Given the description of an element on the screen output the (x, y) to click on. 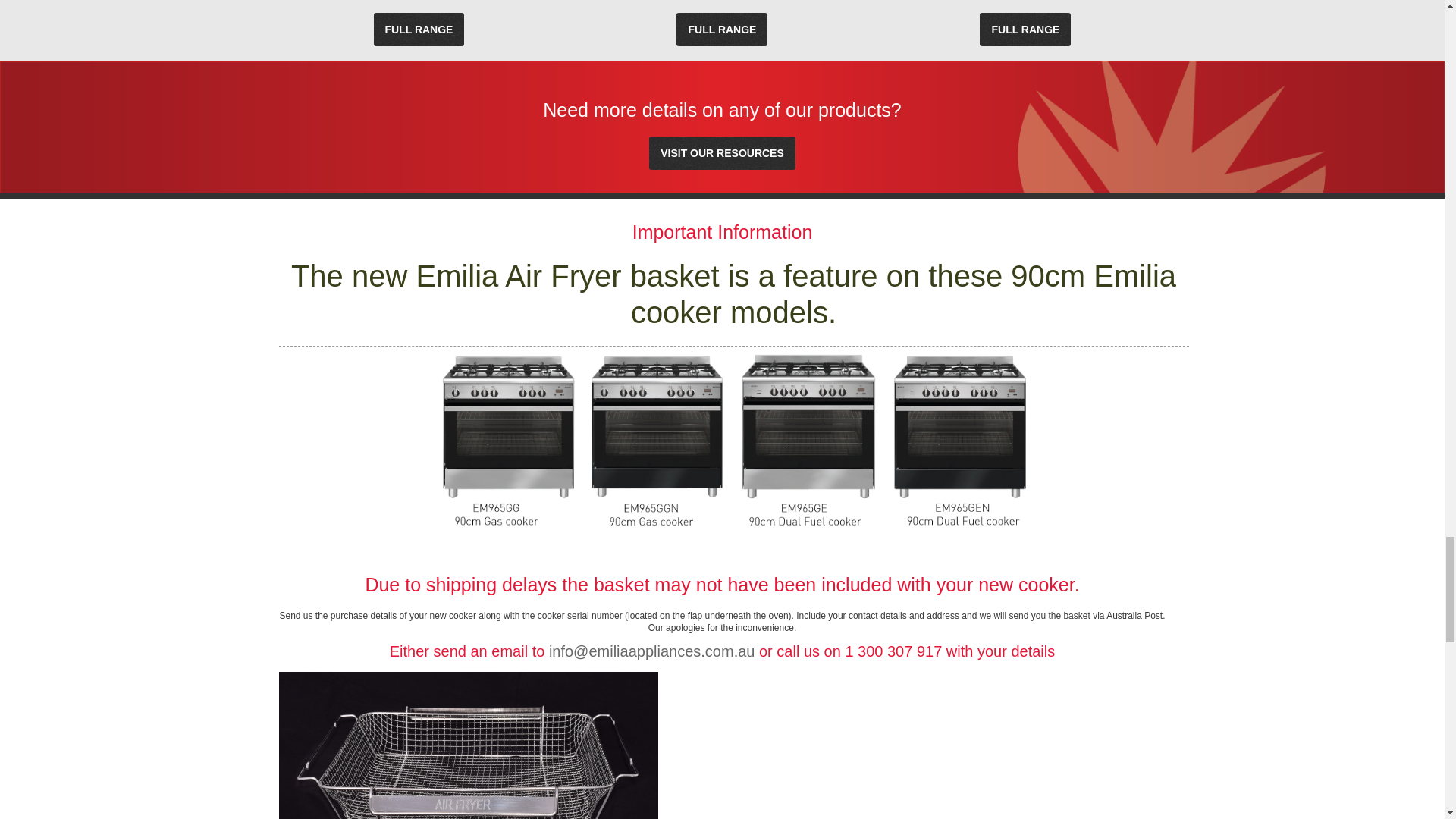
FULL RANGE (1024, 29)
FULL RANGE (418, 29)
FULL RANGE (722, 29)
VISIT OUR RESOURCES (721, 152)
